Given the description of an element on the screen output the (x, y) to click on. 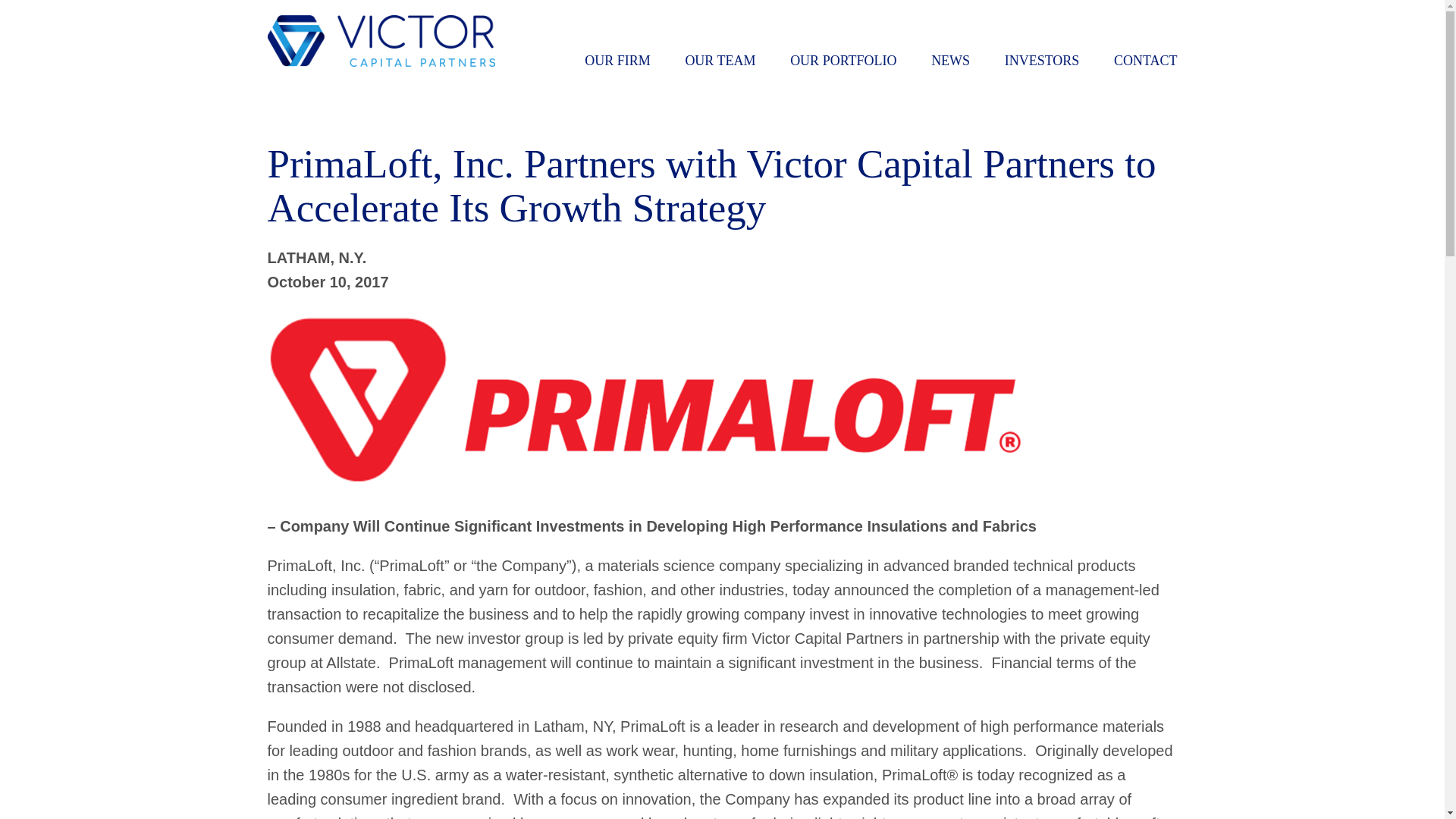
CONTACT (1145, 60)
OUR TEAM (719, 60)
NEWS (950, 60)
OUR PORTFOLIO (843, 60)
INVESTORS (1042, 60)
OUR FIRM (617, 60)
